Given the description of an element on the screen output the (x, y) to click on. 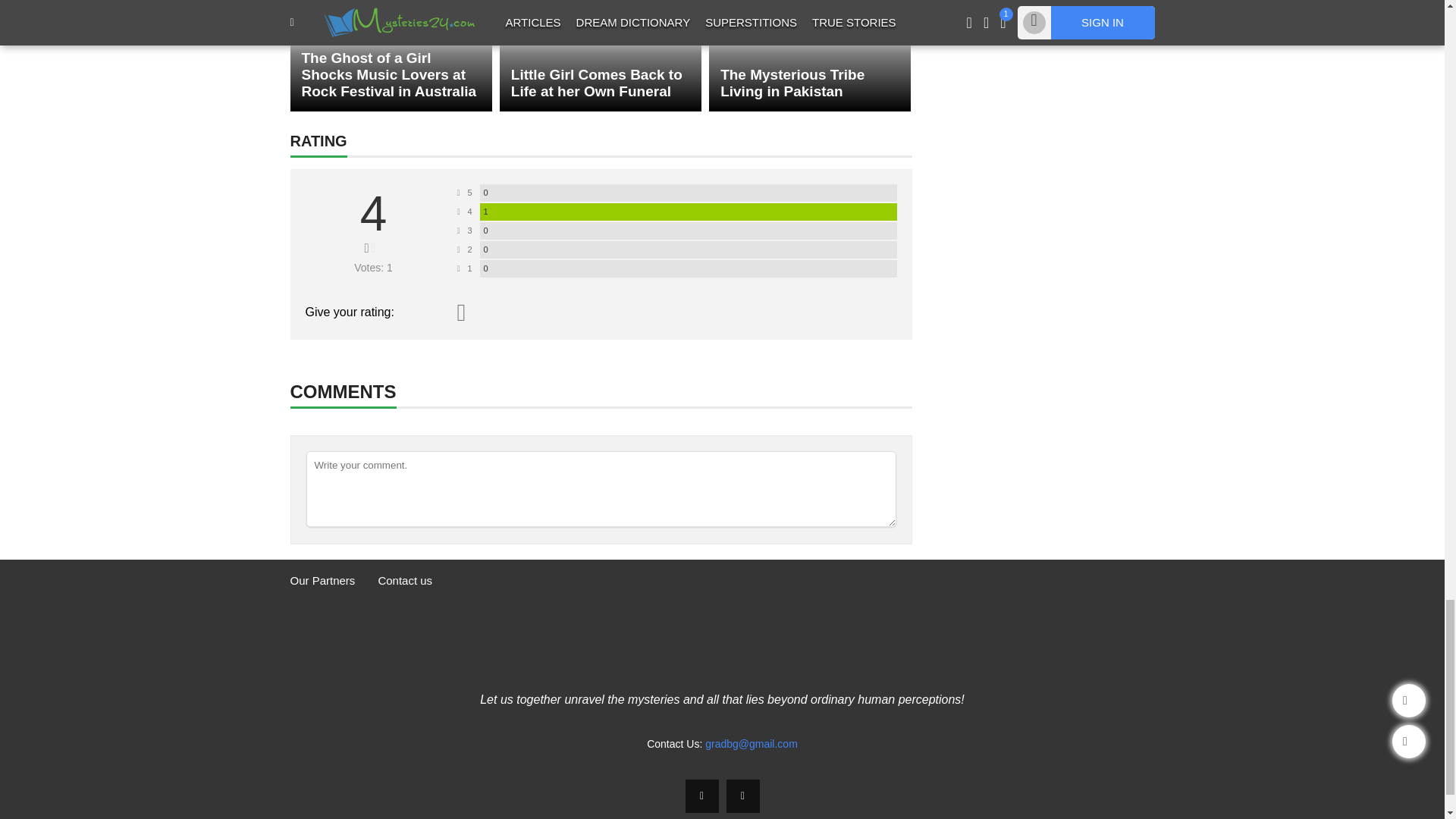
Little Girl Comes Back to Life at her Own Funeral (600, 55)
Facebook (702, 796)
RSS (743, 796)
The Mysterious Tribe Living in Pakistan (810, 55)
